Given the description of an element on the screen output the (x, y) to click on. 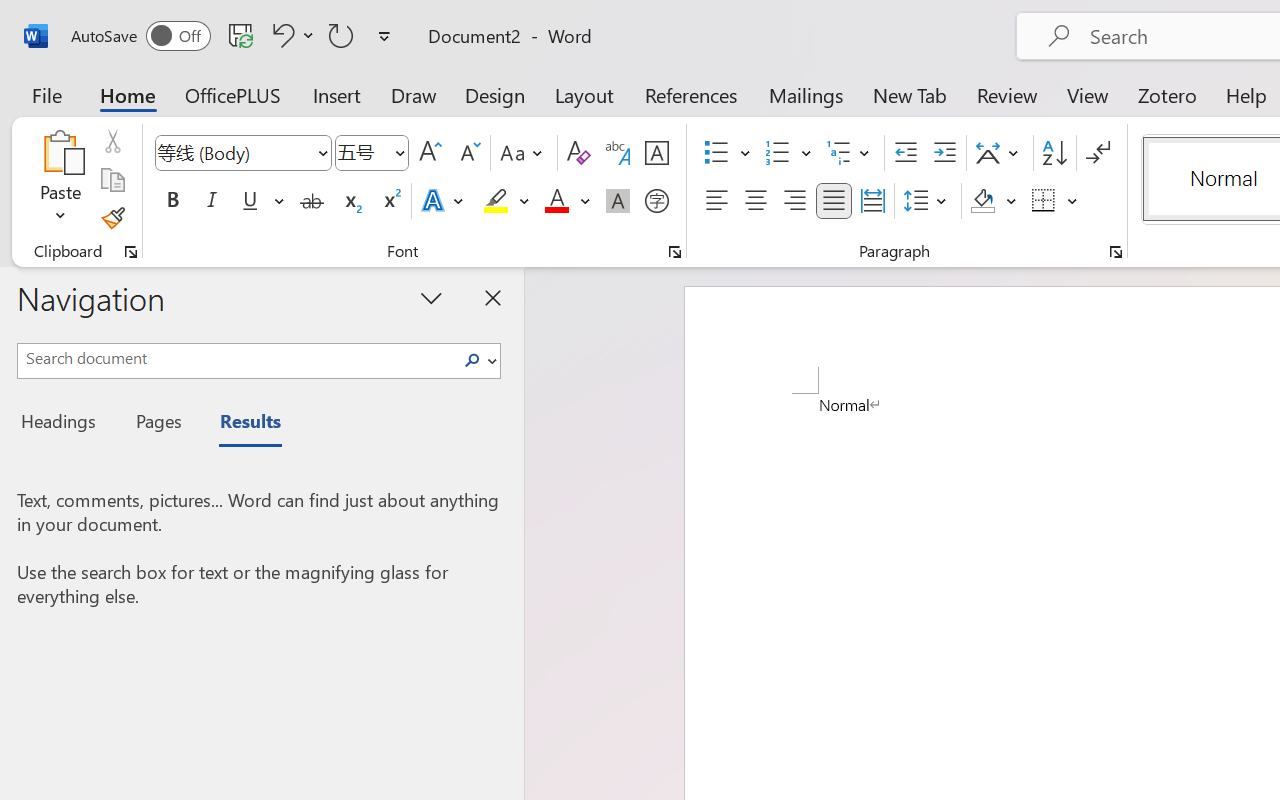
Bold (172, 201)
Paste (60, 151)
Character Border (656, 153)
Draw (413, 94)
Subscript (350, 201)
Font (234, 152)
Sort... (1054, 153)
Office Clipboard... (131, 252)
Paste (60, 179)
View (1087, 94)
Bullets (716, 153)
Repeat Doc Close (341, 35)
Show/Hide Editing Marks (1098, 153)
Font Size (372, 153)
